Given the description of an element on the screen output the (x, y) to click on. 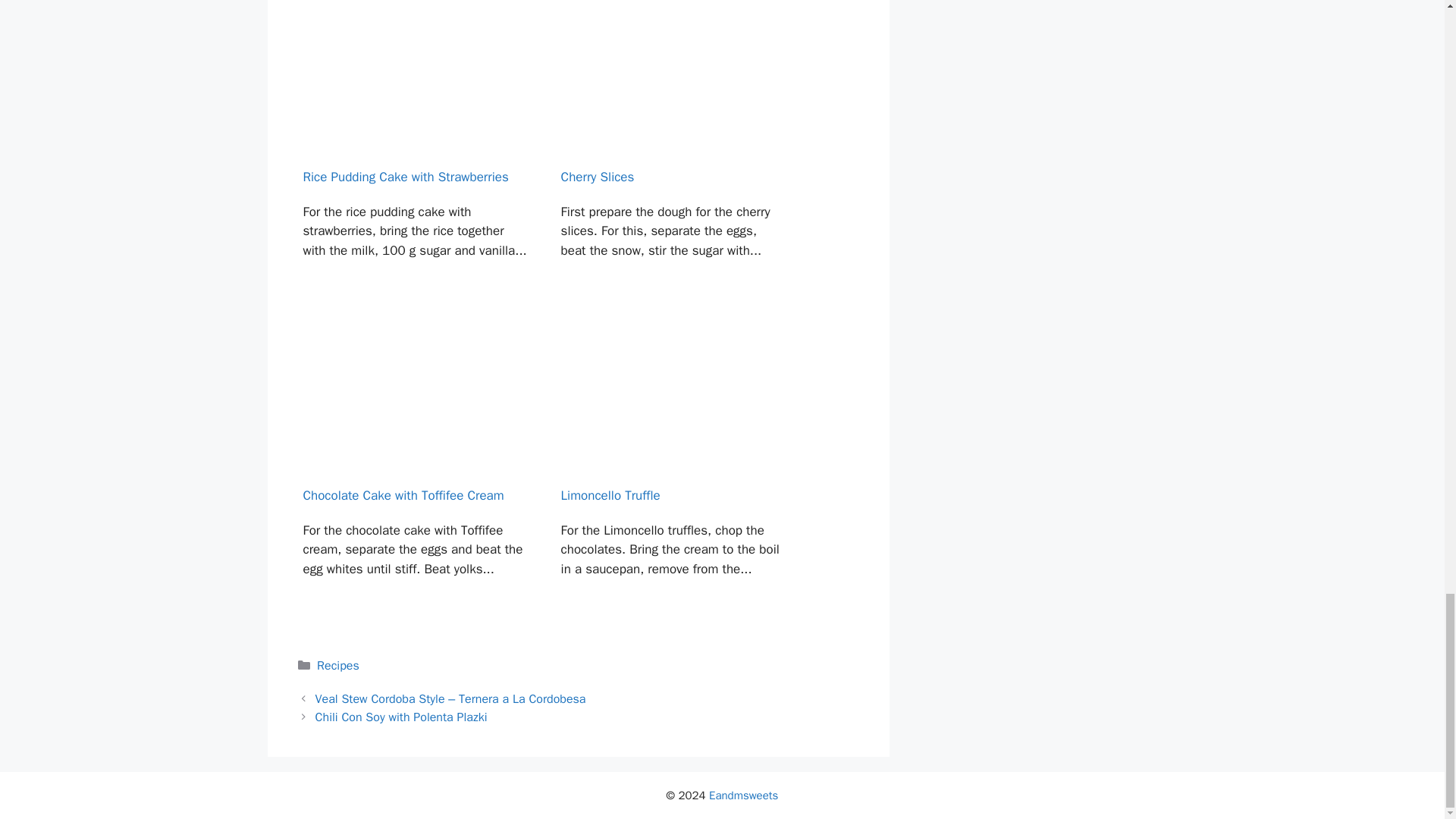
Recipes (338, 665)
Chili Con Soy with Polenta Plazki (401, 717)
